Given the description of an element on the screen output the (x, y) to click on. 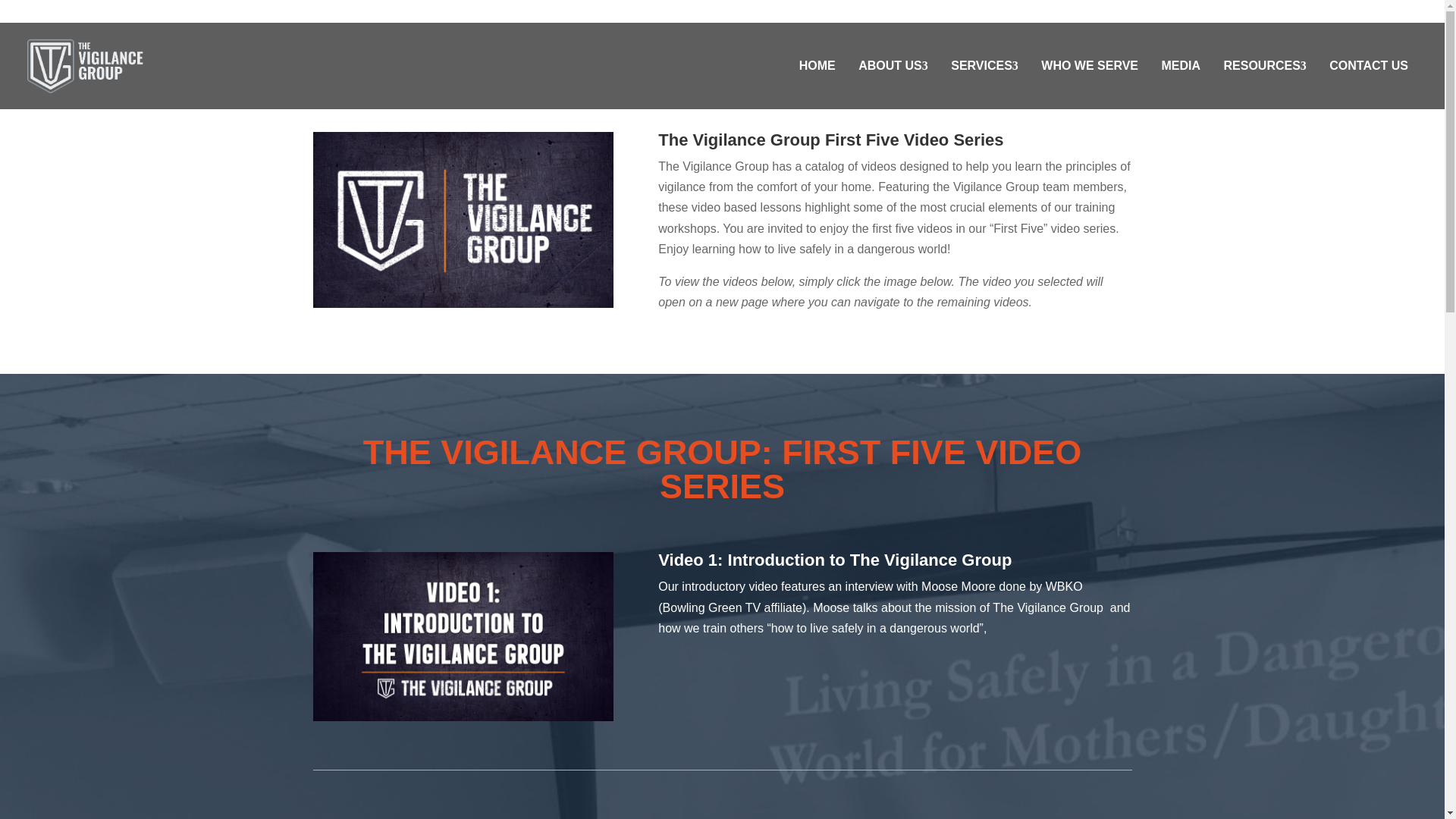
CONTACT US (1368, 65)
MEDIA (1180, 65)
WHO WE SERVE (1089, 65)
video title page 1b (462, 636)
HOME (817, 65)
tvg video page (462, 219)
SERVICES (984, 65)
RESOURCES (1264, 65)
ABOUT US (893, 65)
